Given the description of an element on the screen output the (x, y) to click on. 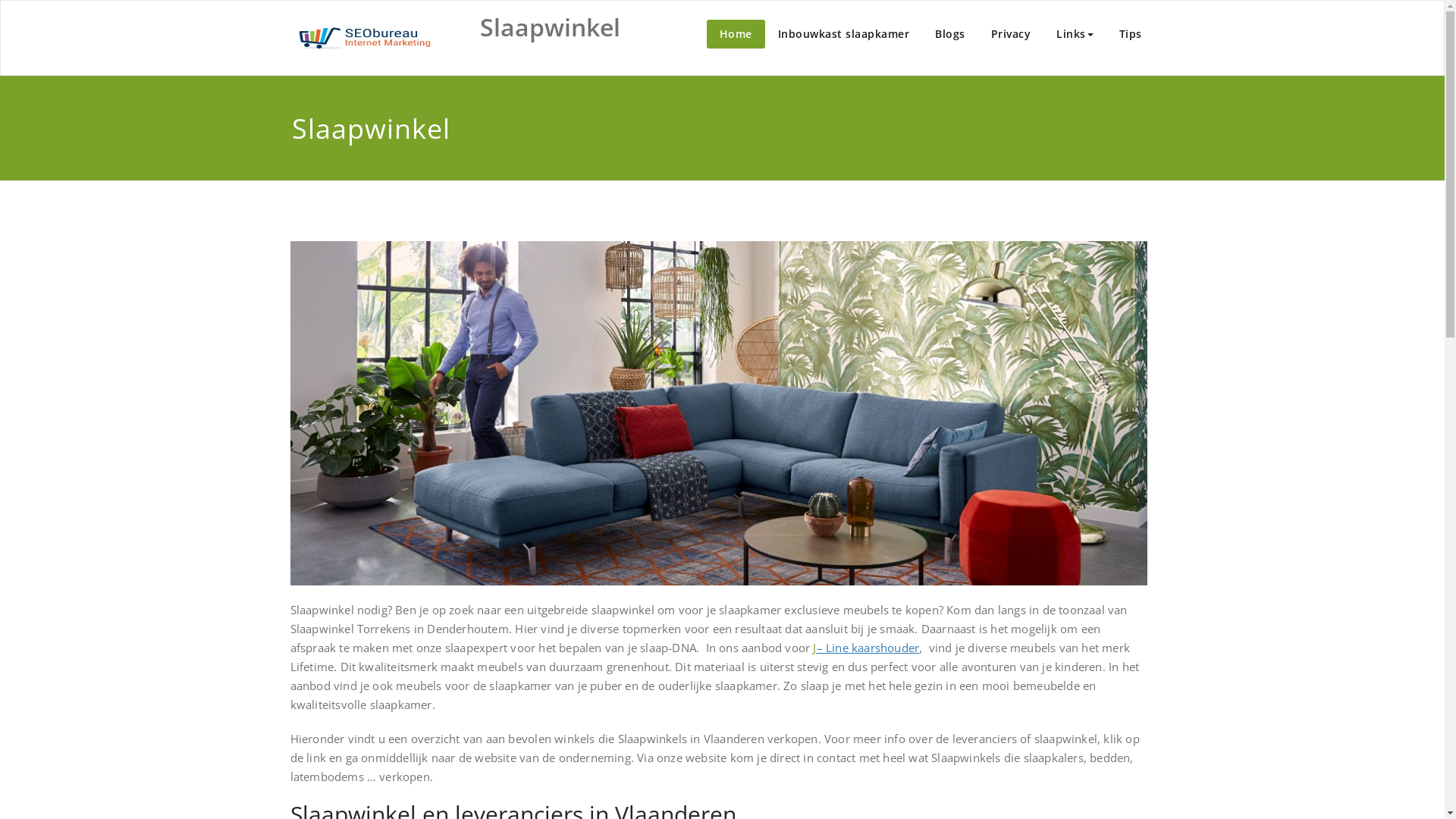
Tips Element type: text (1129, 33)
Inbouwkast slaapkamer Element type: text (843, 33)
J Element type: text (813, 647)
Blogs Element type: text (950, 33)
Links Element type: text (1074, 33)
Slaapwinkel Element type: text (549, 27)
Home Element type: text (735, 33)
Privacy Element type: text (1011, 33)
